Given the description of an element on the screen output the (x, y) to click on. 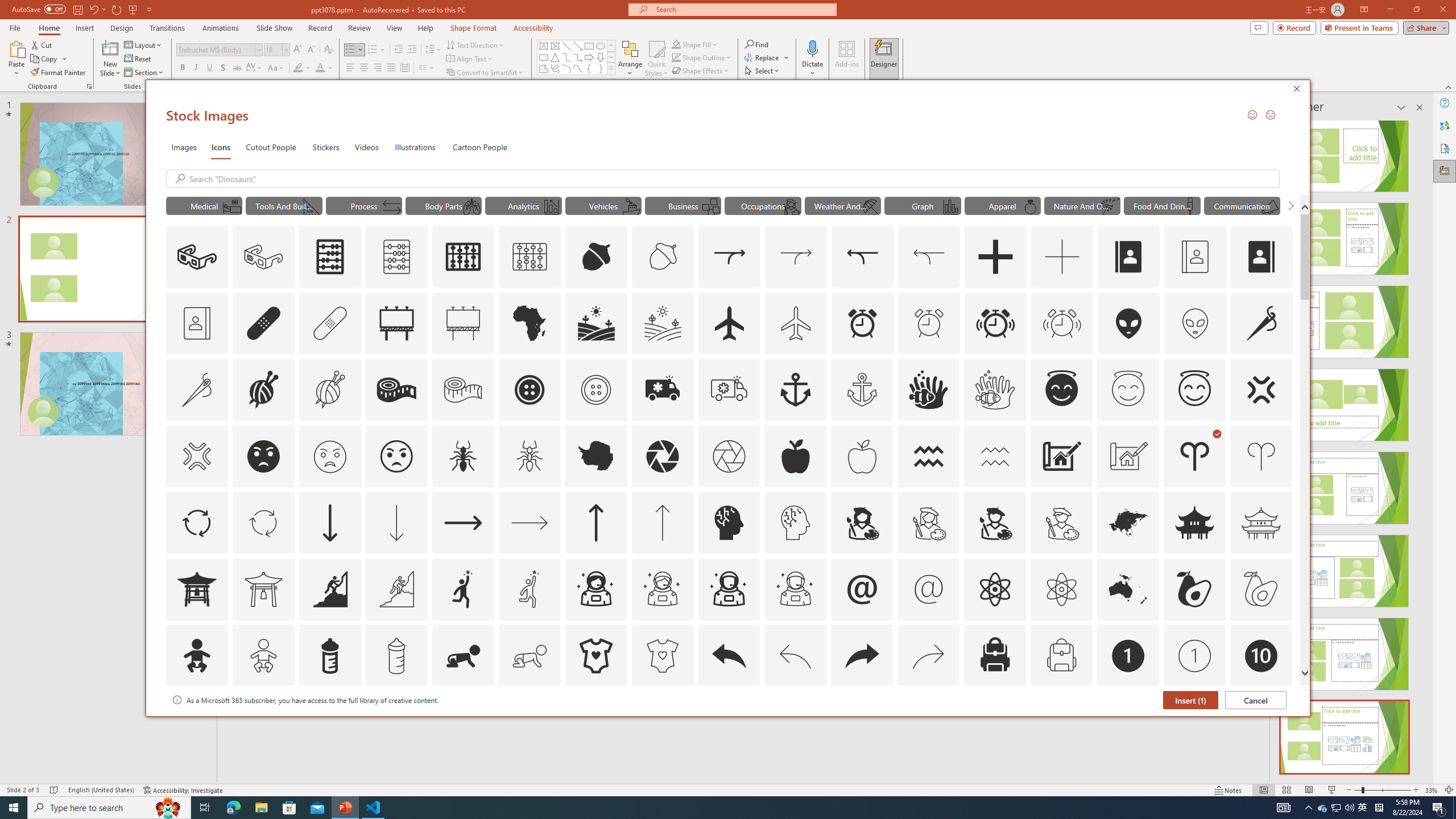
Insert (1) (1190, 700)
AutomationID: Icons_Airplane_M (796, 323)
AutomationID: Icons_Acorn (596, 256)
AutomationID: Icons_Aperture (662, 455)
AutomationID: Icons_ArtistMale (995, 522)
AutomationID: Icons_Badge3_M (462, 721)
Class: NetUIScrollBar (1418, 447)
AutomationID: Icons_At (861, 588)
AutomationID: Icons_BabyOnesie_M (662, 655)
